Given the description of an element on the screen output the (x, y) to click on. 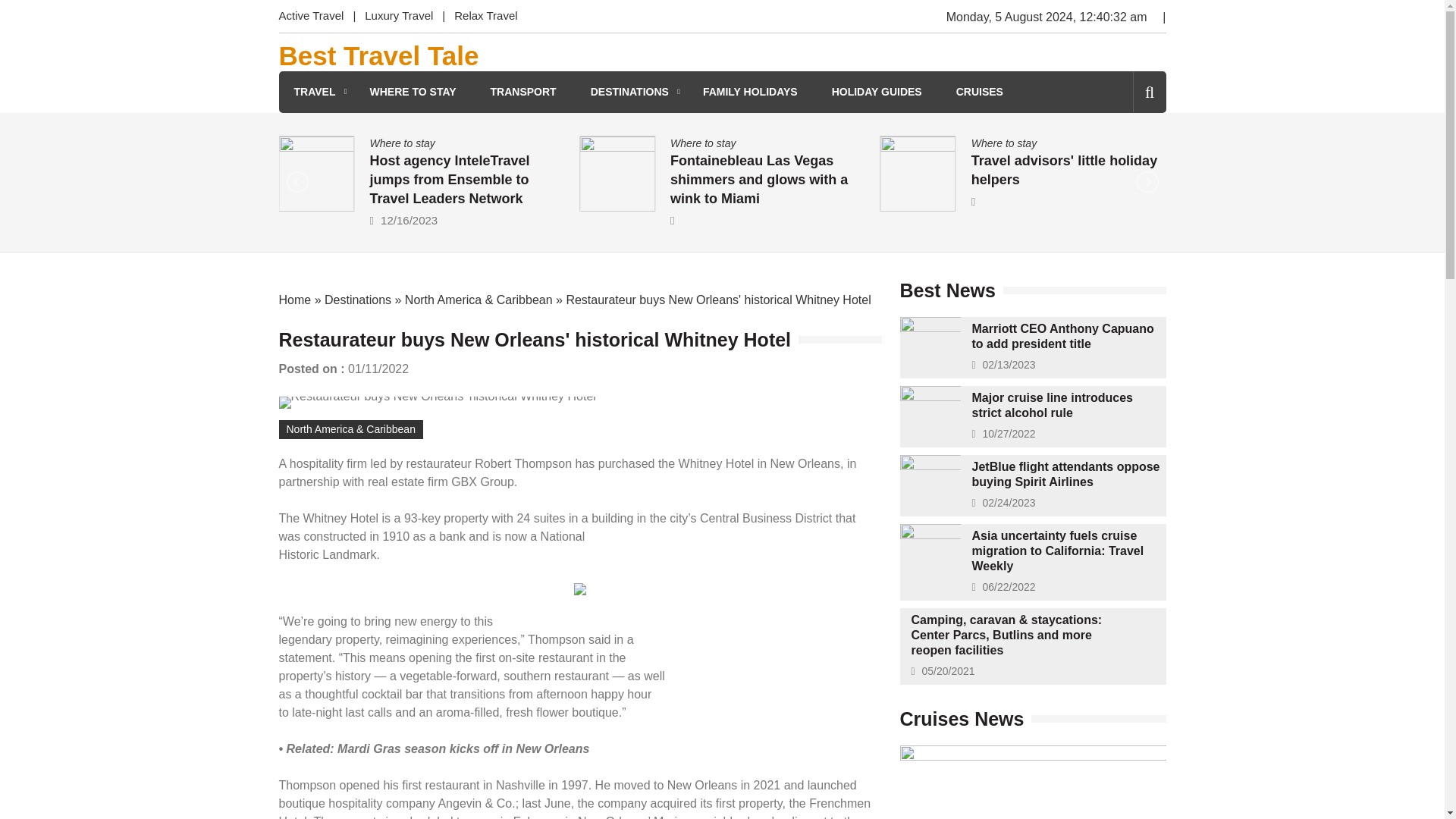
Relax Travel (485, 16)
CRUISES (979, 92)
HOLIDAY GUIDES (876, 92)
WHERE TO STAY (412, 92)
Best Travel Tale (379, 55)
DESTINATIONS (629, 92)
TRAVEL (315, 92)
TRANSPORT (523, 92)
FAMILY HOLIDAYS (750, 92)
Search (1123, 156)
Luxury Travel (398, 16)
Active Travel (316, 16)
